Given the description of an element on the screen output the (x, y) to click on. 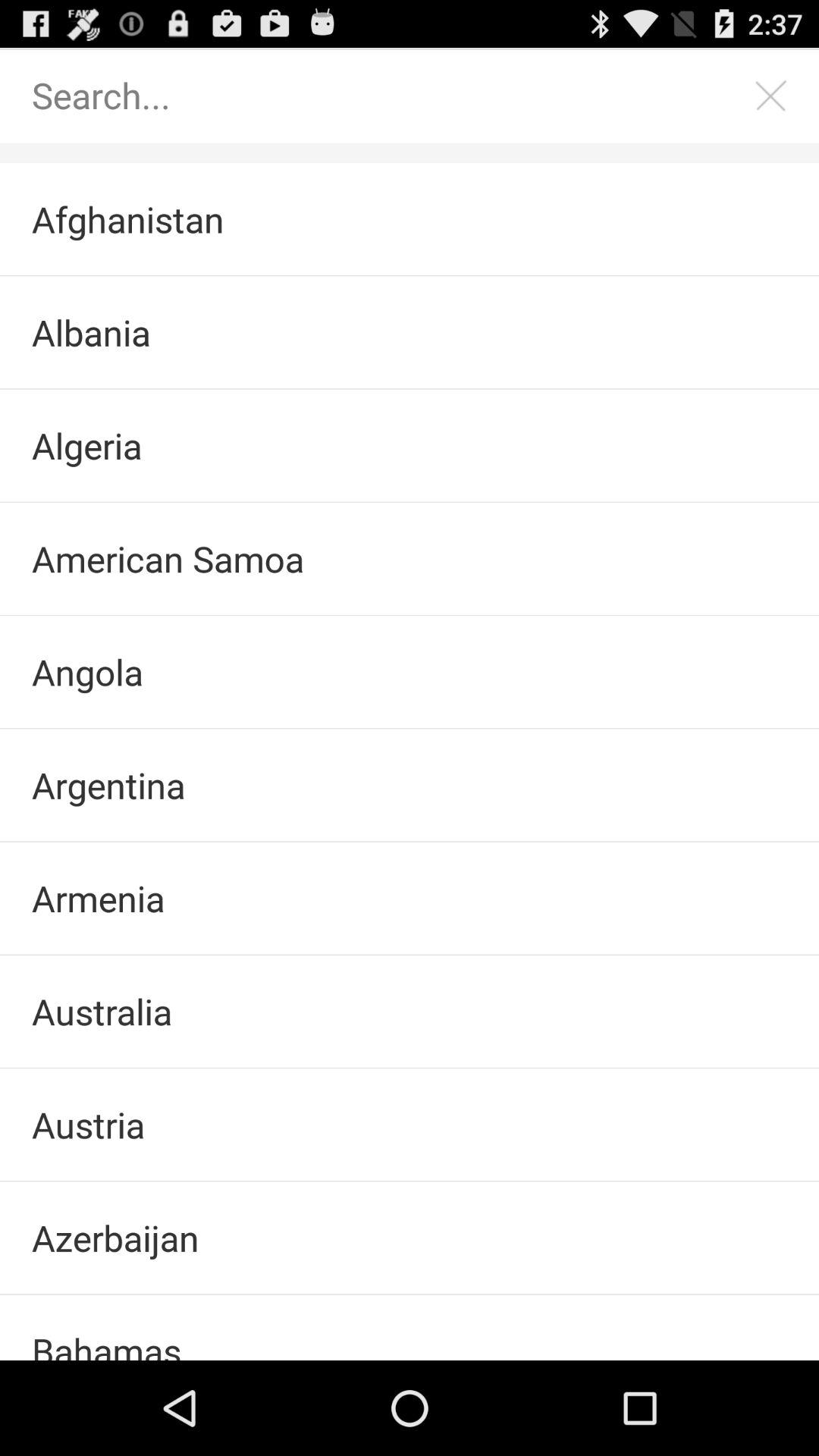
search this list (393, 95)
